Given the description of an element on the screen output the (x, y) to click on. 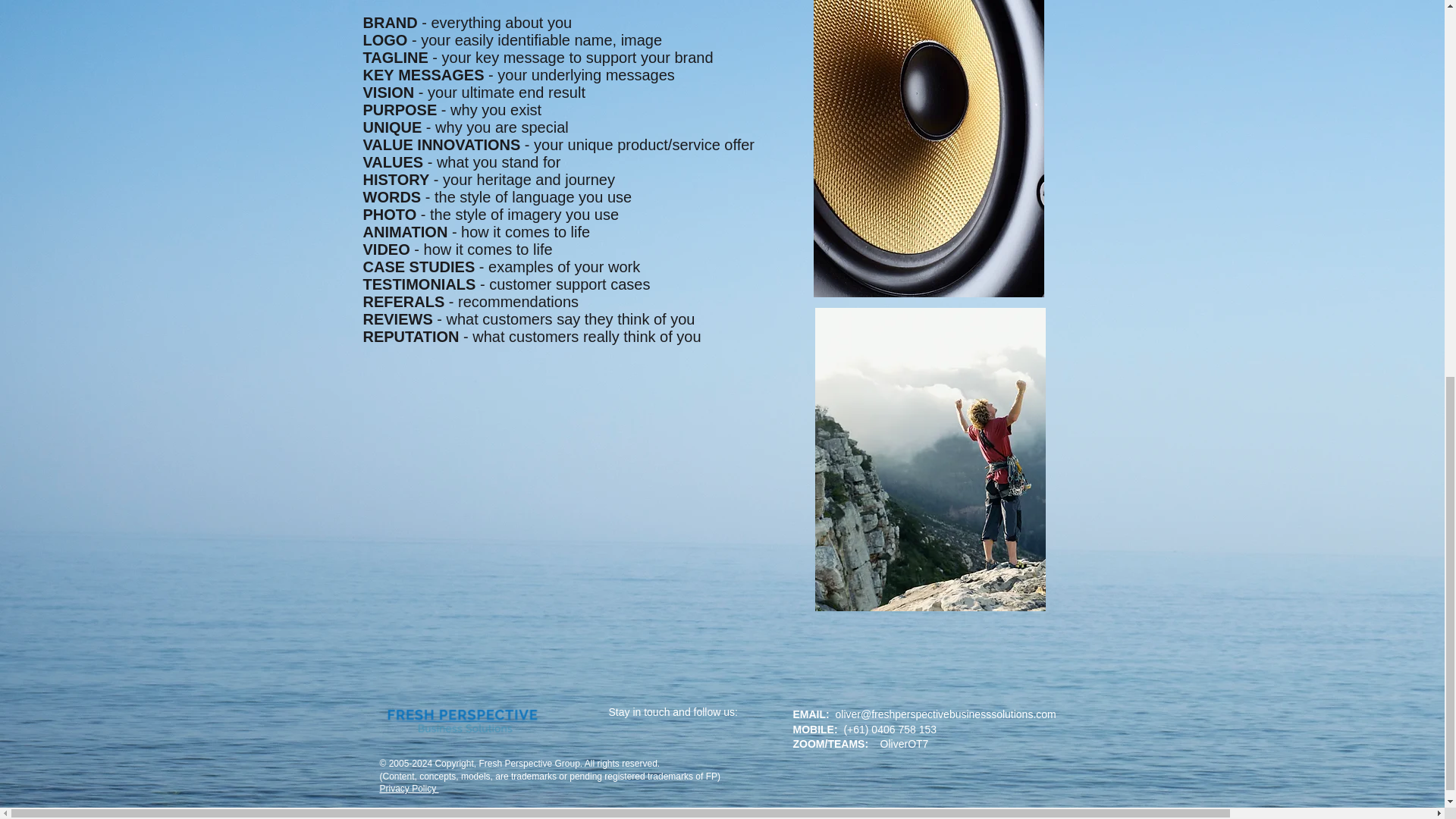
Privacy Policy  (408, 787)
